Given the description of an element on the screen output the (x, y) to click on. 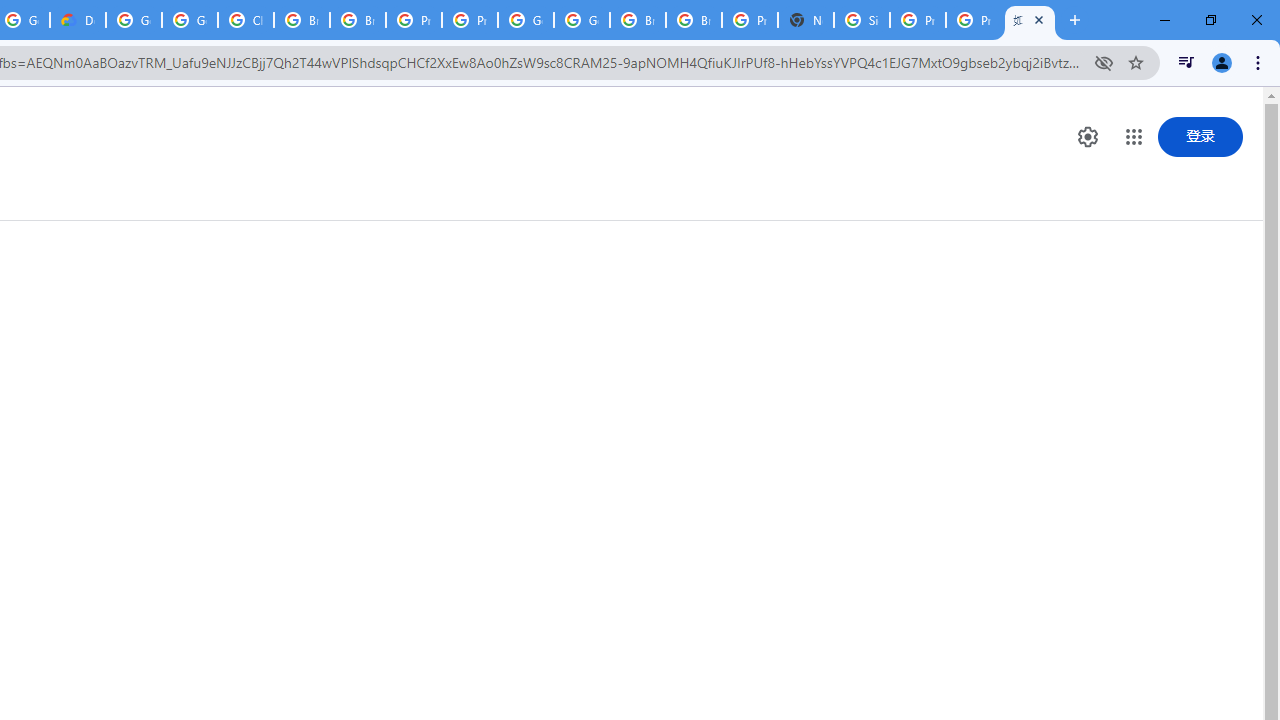
New Tab (806, 20)
Browse Chrome as a guest - Computer - Google Chrome Help (693, 20)
Browse Chrome as a guest - Computer - Google Chrome Help (301, 20)
Browse Chrome as a guest - Computer - Google Chrome Help (358, 20)
Google Cloud Platform (525, 20)
Browse Chrome as a guest - Computer - Google Chrome Help (637, 20)
Control your music, videos, and more (1185, 62)
Sign in - Google Accounts (861, 20)
